Given the description of an element on the screen output the (x, y) to click on. 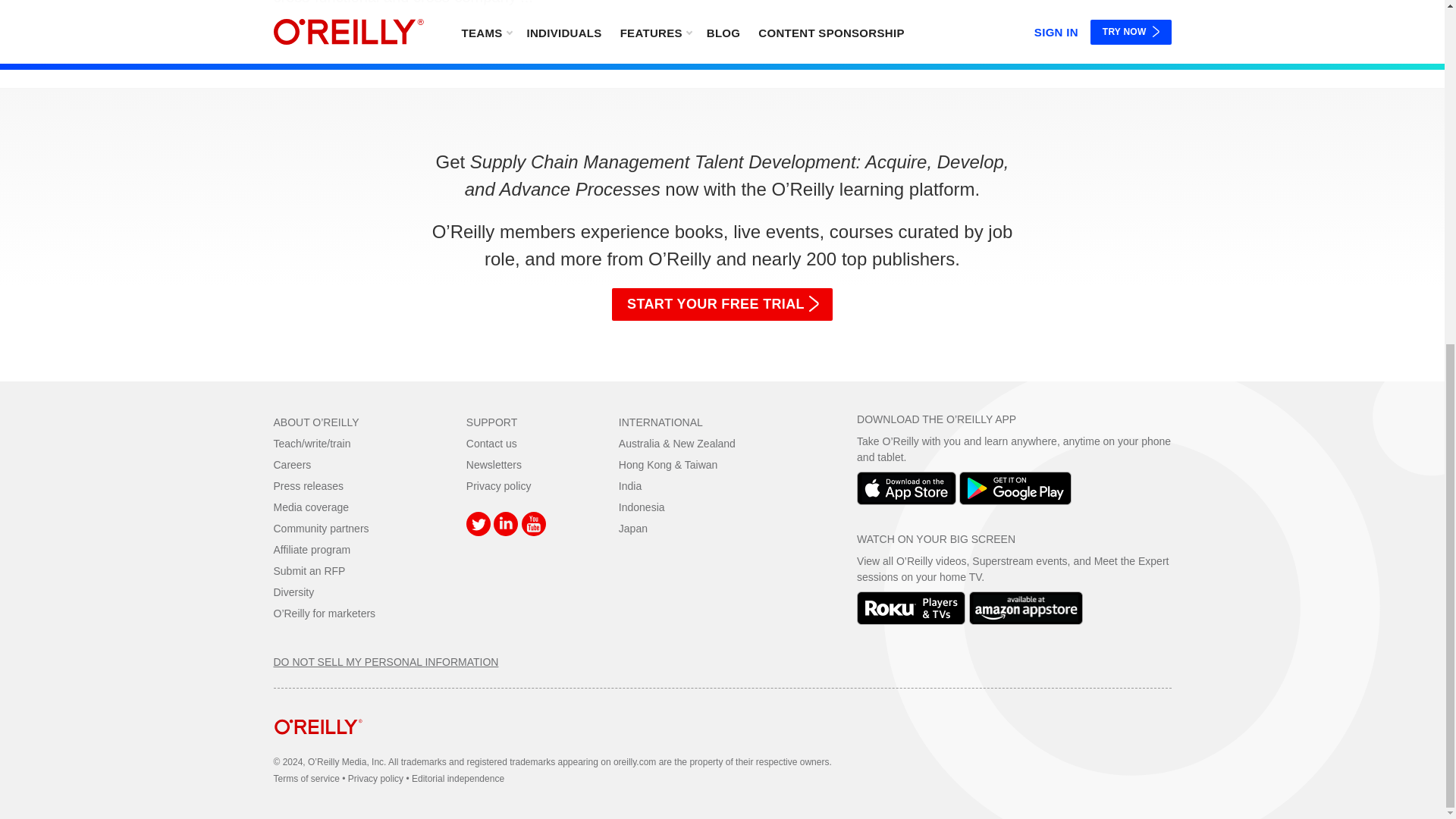
home page (317, 745)
Submit an RFP (309, 571)
START YOUR FREE TRIAL (721, 304)
Contact us (490, 443)
Press releases (308, 485)
Privacy policy (498, 485)
Diversity (293, 592)
Affiliate program (311, 549)
Media coverage (311, 507)
SUPPORT (490, 422)
Newsletters (493, 464)
Community partners (320, 528)
Careers (292, 464)
